Given the description of an element on the screen output the (x, y) to click on. 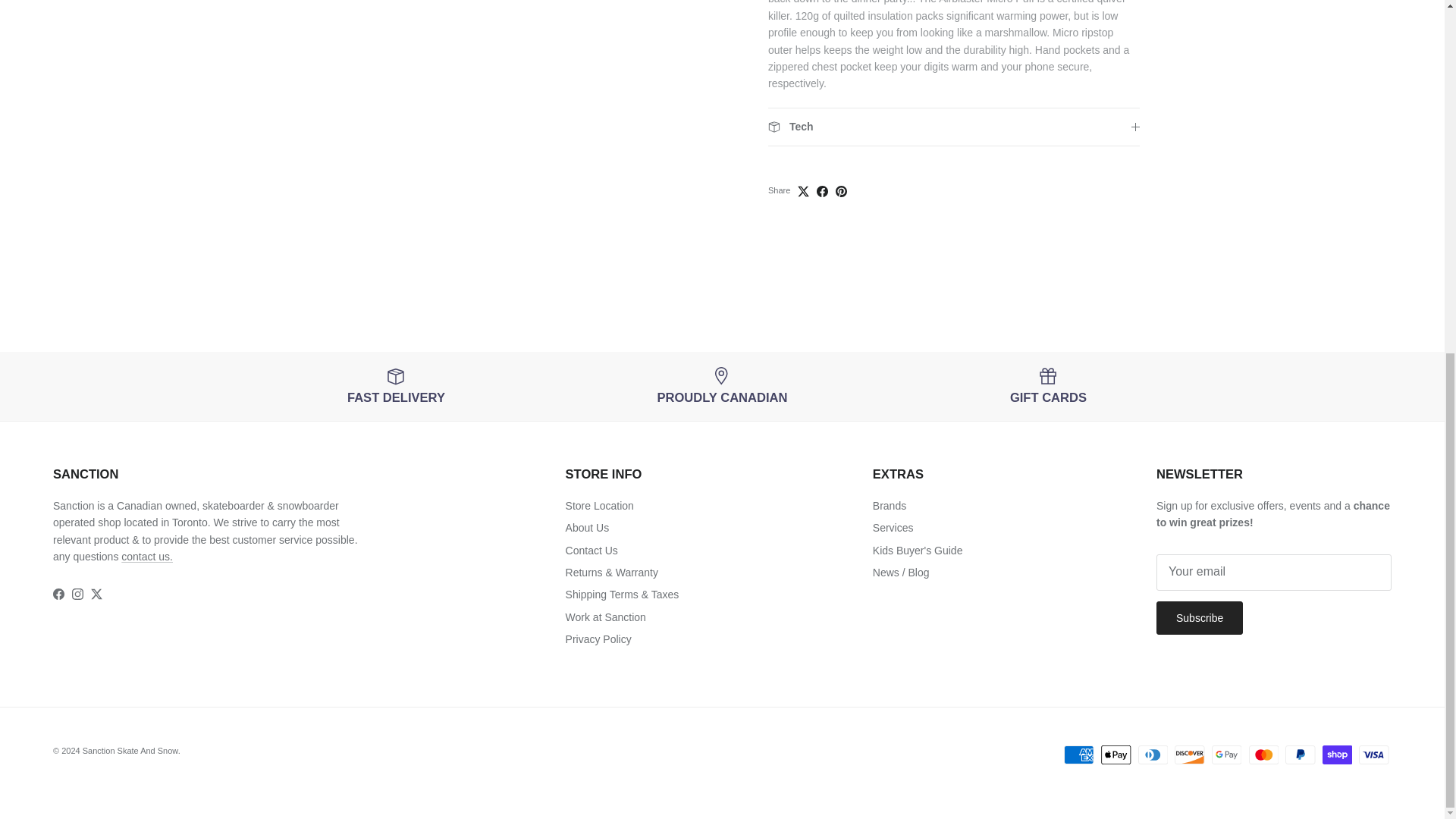
Pin on Pinterest (841, 172)
Sanction Skate And Snow on Twitter (95, 593)
Sanction Skate And Snow on Instagram (76, 593)
Sanction Skate And Snow on Facebook (58, 593)
Tweet on X (803, 172)
Contact Us (146, 556)
Share on Facebook (822, 172)
